Given the description of an element on the screen output the (x, y) to click on. 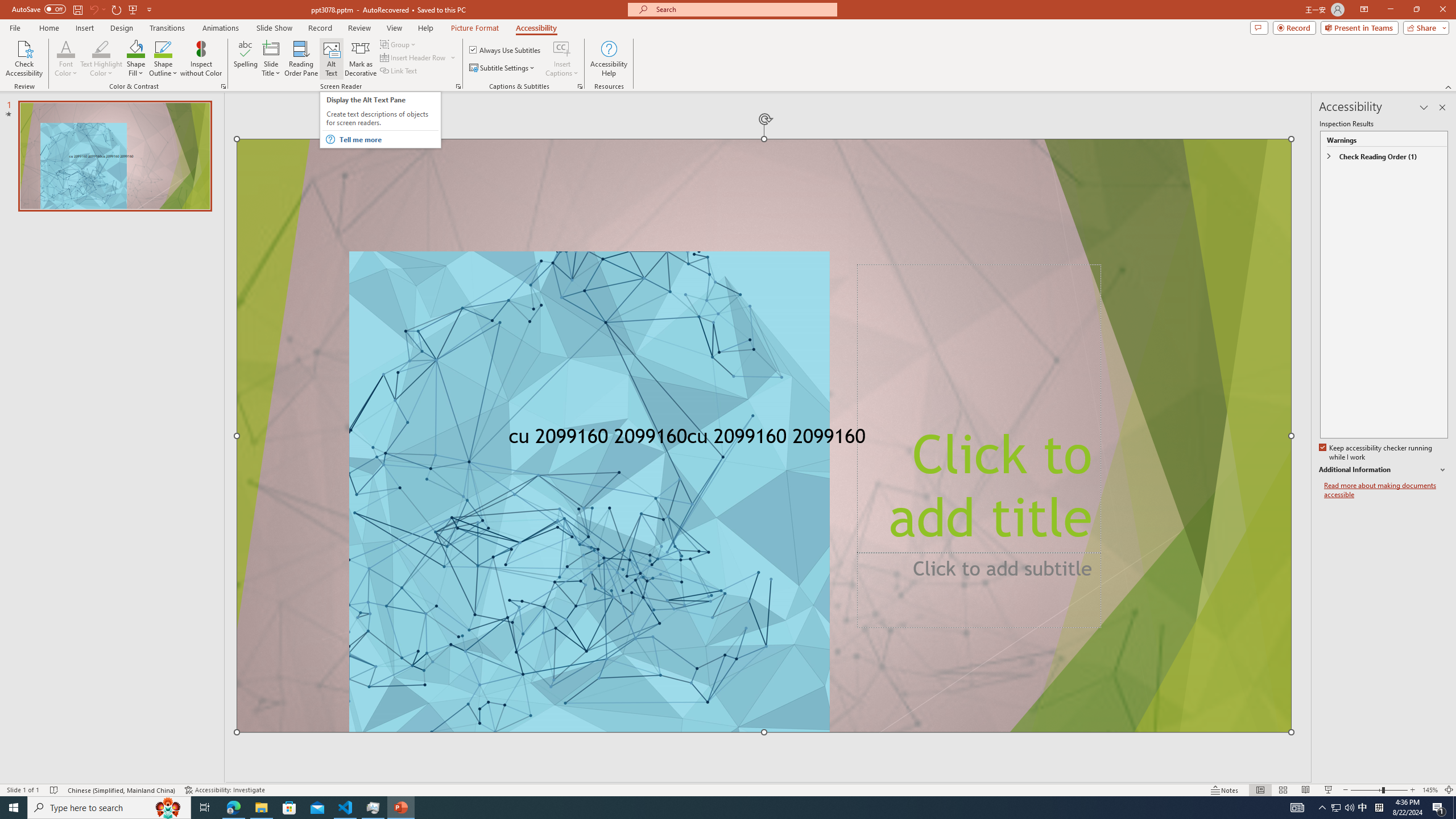
Reading Order Pane (301, 58)
Tell me more (387, 139)
Accessibility Help (608, 58)
Link Text (399, 69)
